Given the description of an element on the screen output the (x, y) to click on. 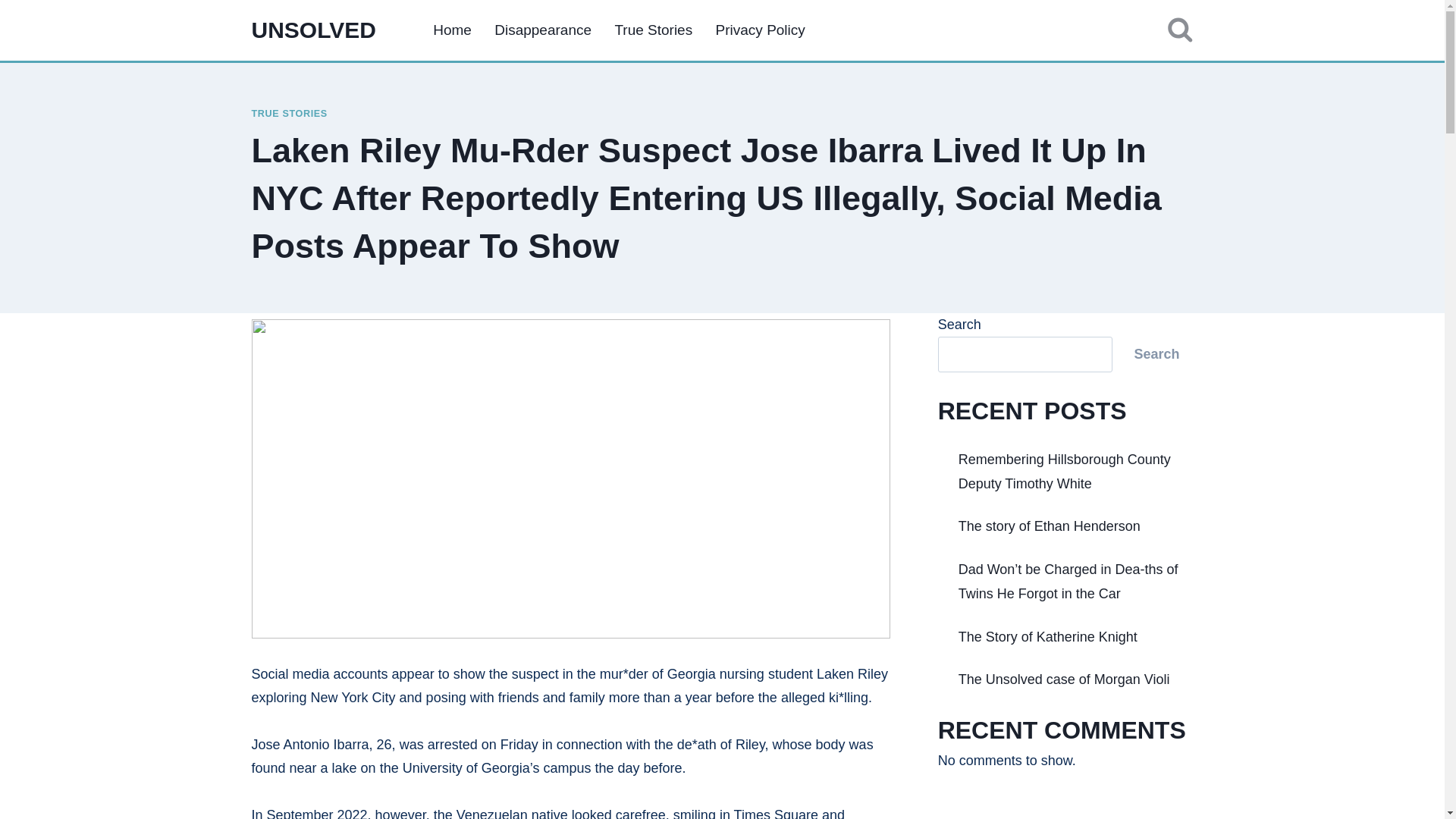
Privacy Policy (759, 29)
UNSOLVED (313, 30)
Disappearance (542, 29)
Home (452, 29)
TRUE STORIES (289, 113)
True Stories (652, 29)
